Given the description of an element on the screen output the (x, y) to click on. 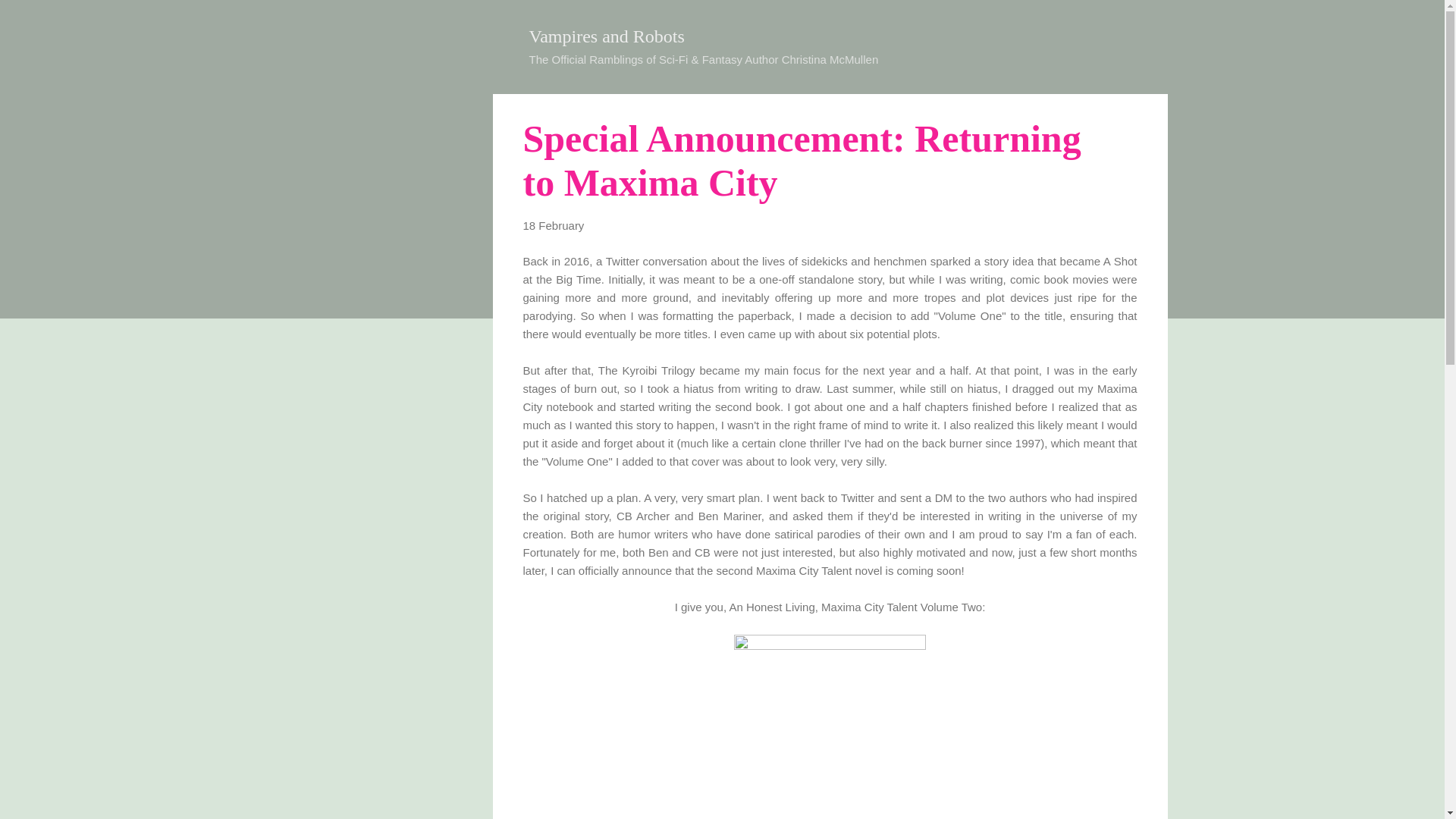
18 February (553, 225)
Vampires and Robots (606, 35)
permanent link (553, 225)
